Given the description of an element on the screen output the (x, y) to click on. 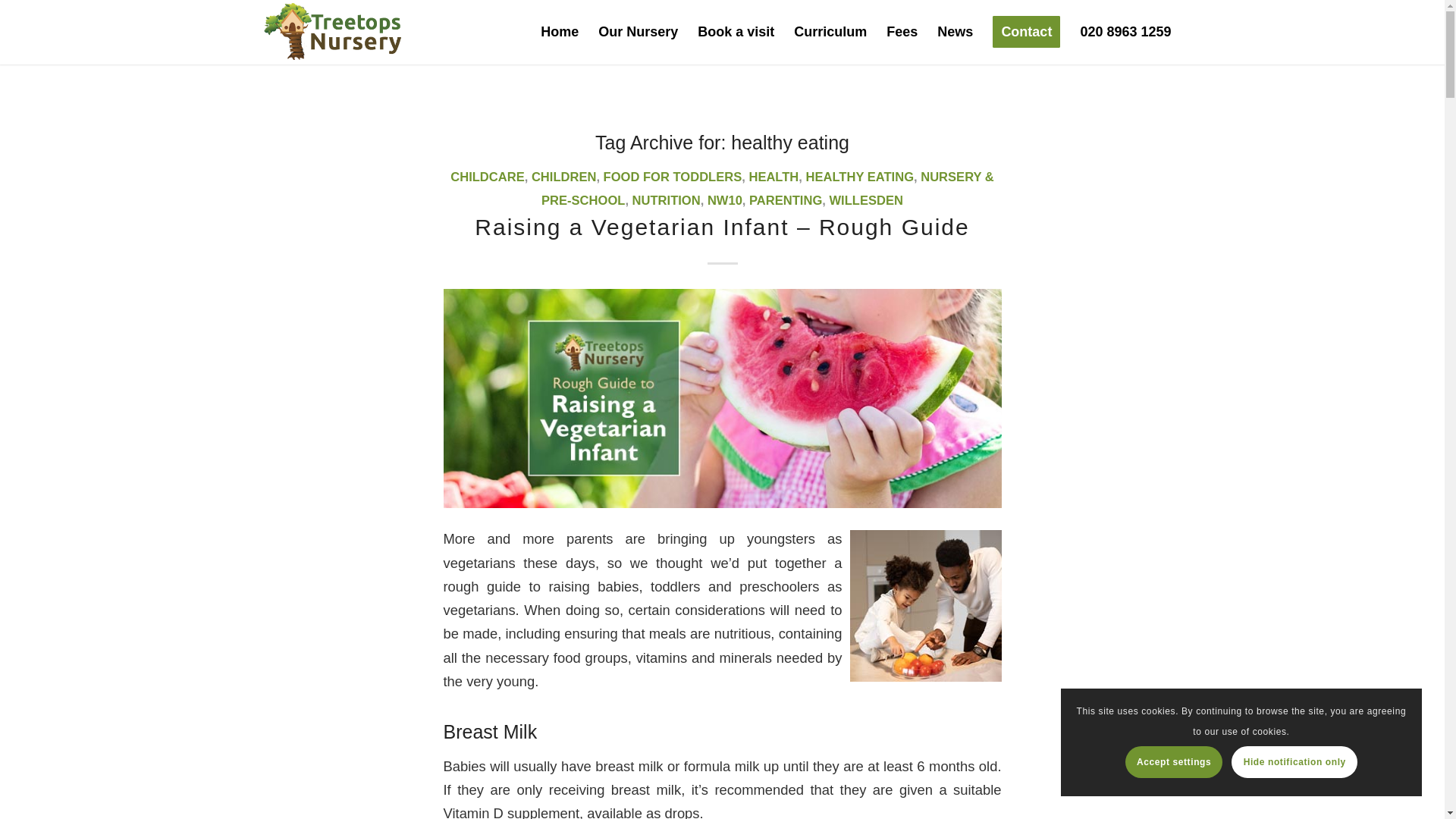
CHILDCARE (486, 176)
Contact (1026, 32)
Our Nursery (637, 32)
Raising a Vegetarian Infant - Rough Guide (721, 398)
NW10 (724, 200)
Our Nursery (637, 32)
NUTRITION (665, 200)
Curriculum (830, 32)
Home (559, 32)
FOOD FOR TODDLERS (673, 176)
020 8963 1259 (1125, 32)
HEALTHY EATING (860, 176)
WILLESDEN (865, 200)
